Given the description of an element on the screen output the (x, y) to click on. 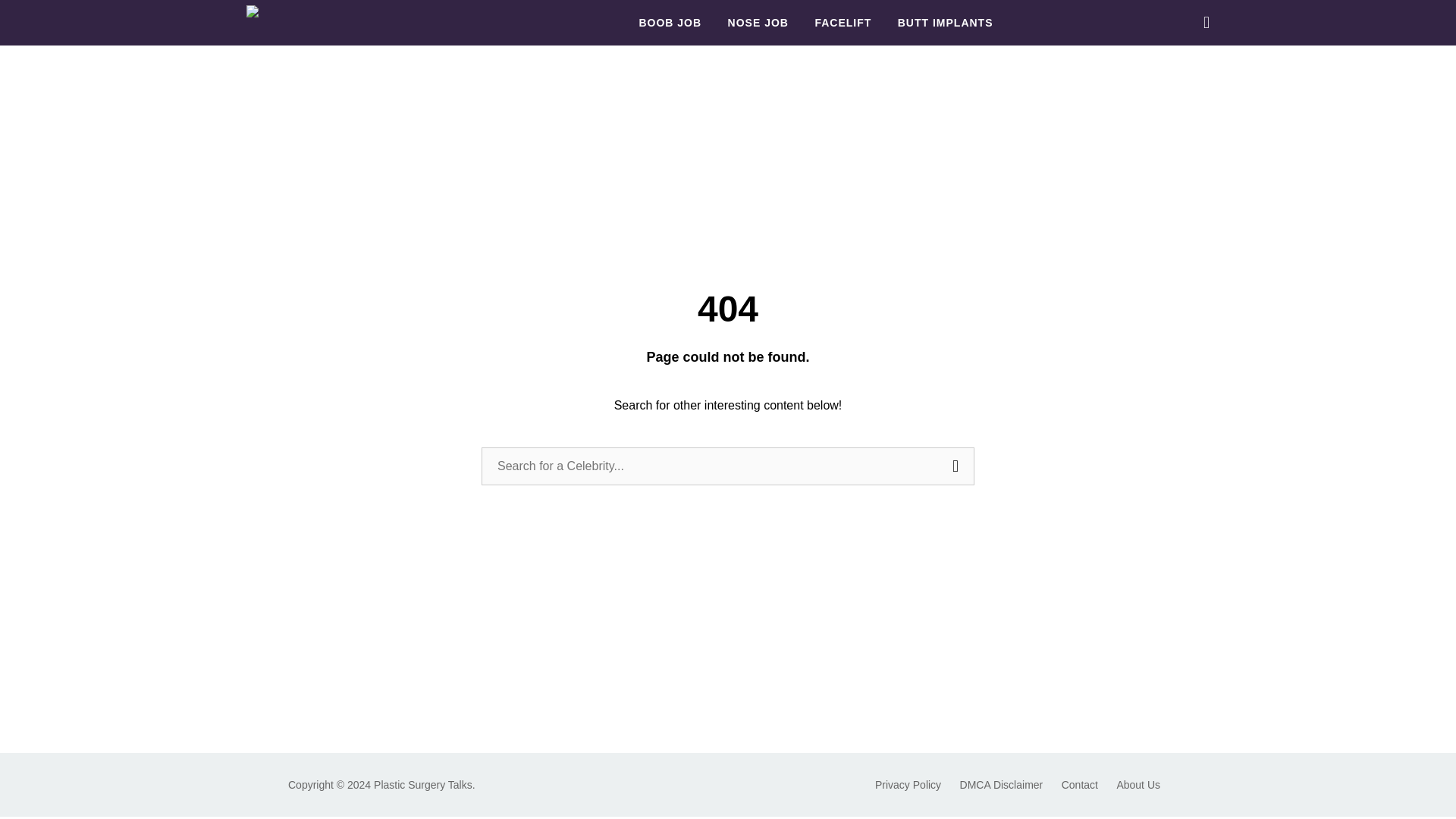
Privacy Policy (907, 784)
DMCA Disclaimer (1001, 784)
Search (955, 466)
FACELIFT (841, 22)
BOOB JOB (670, 22)
About Us (1138, 784)
Contact (1079, 784)
BUTT IMPLANTS (945, 22)
NOSE JOB (758, 22)
